Given the description of an element on the screen output the (x, y) to click on. 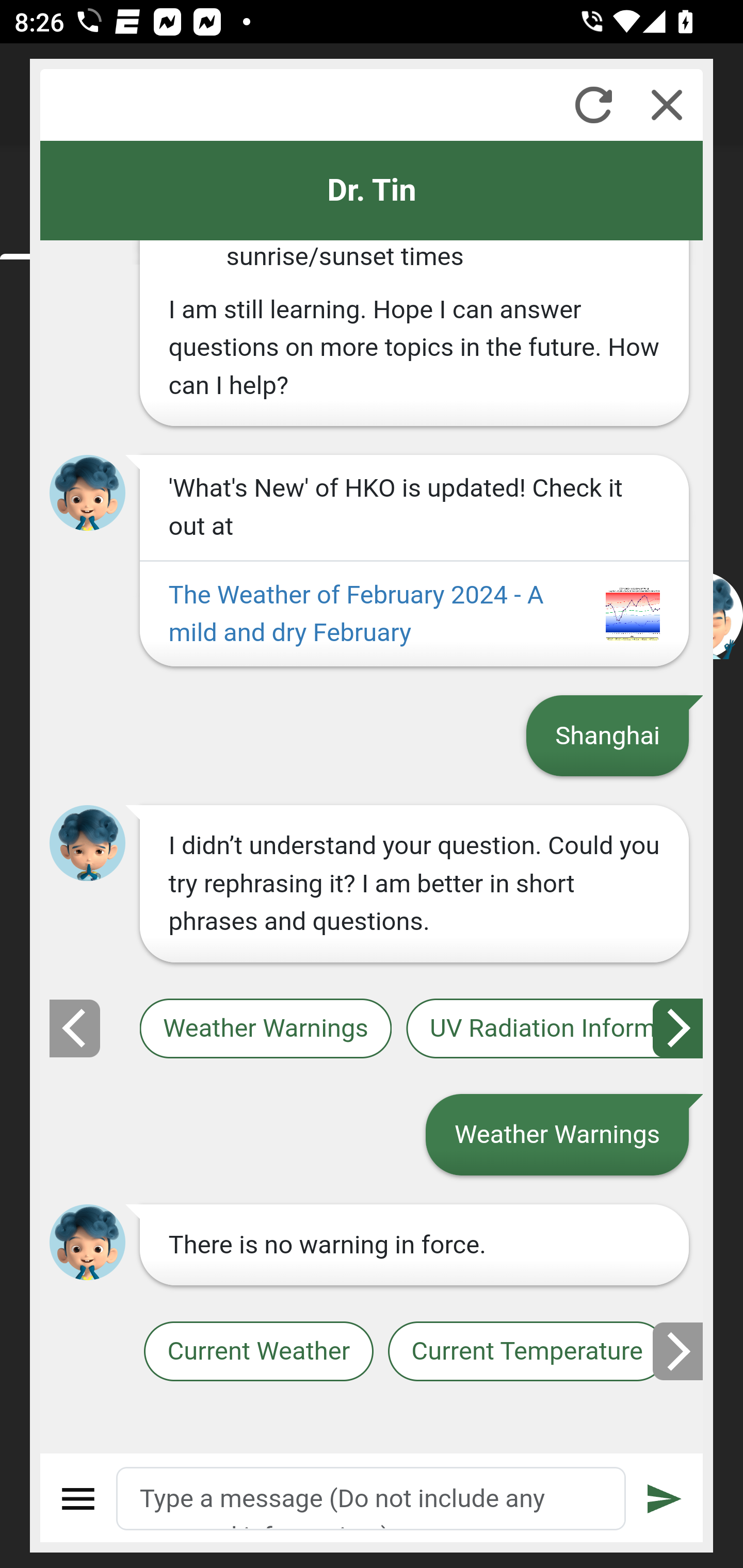
Refresh (593, 104)
Close (666, 104)
Local Weather Forecast (83, 1028)
Weather Warnings (264, 1028)
UV Radiation Information (554, 1028)
Next slide (678, 1028)
Current Weather (257, 1351)
Current Temperature (526, 1351)
Next slide (678, 1351)
Menu (78, 1498)
Submit (665, 1498)
